Given the description of an element on the screen output the (x, y) to click on. 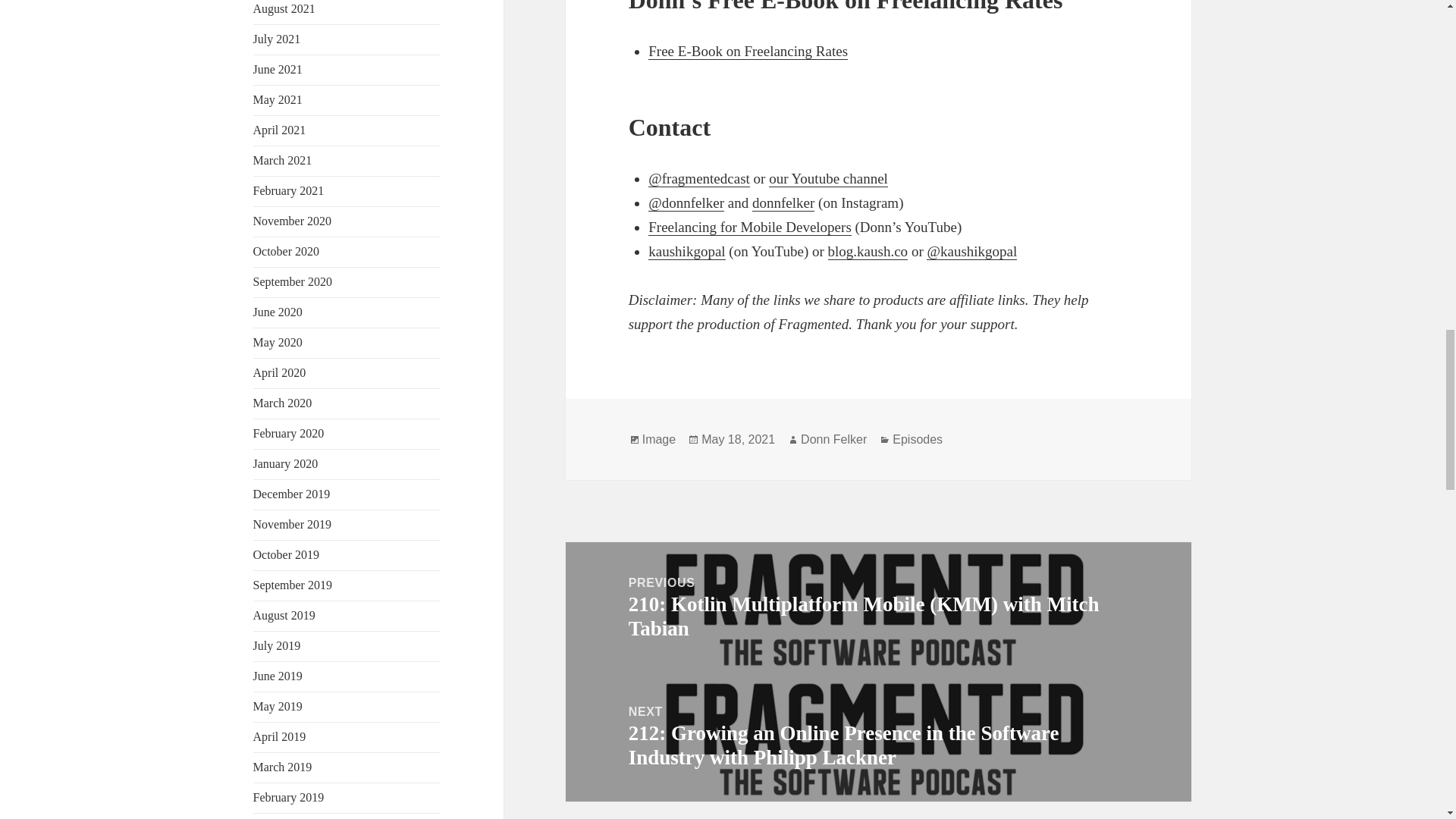
June 2021 (277, 69)
July 2021 (277, 38)
August 2021 (284, 8)
